Given the description of an element on the screen output the (x, y) to click on. 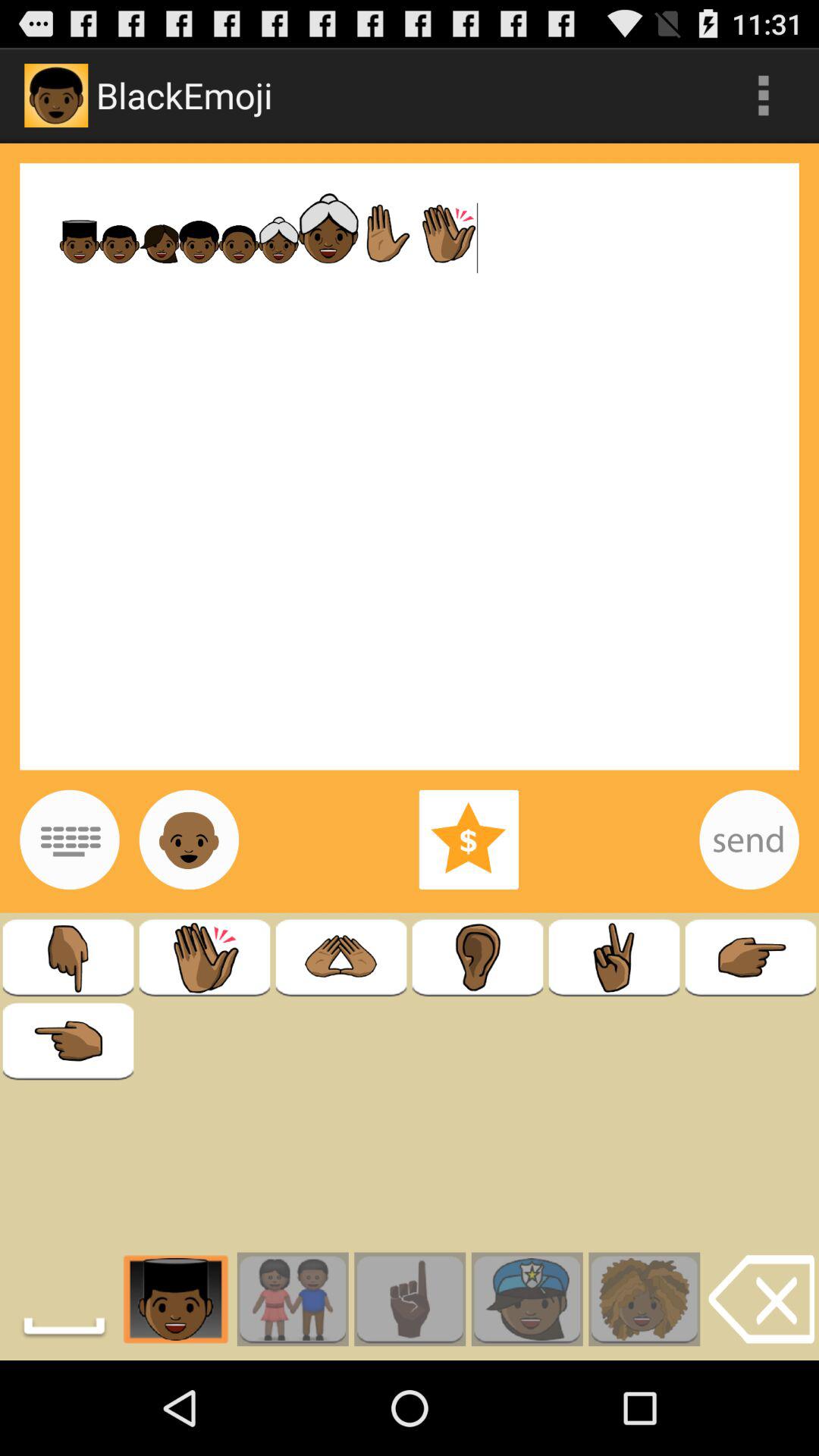
emojis (188, 839)
